Given the description of an element on the screen output the (x, y) to click on. 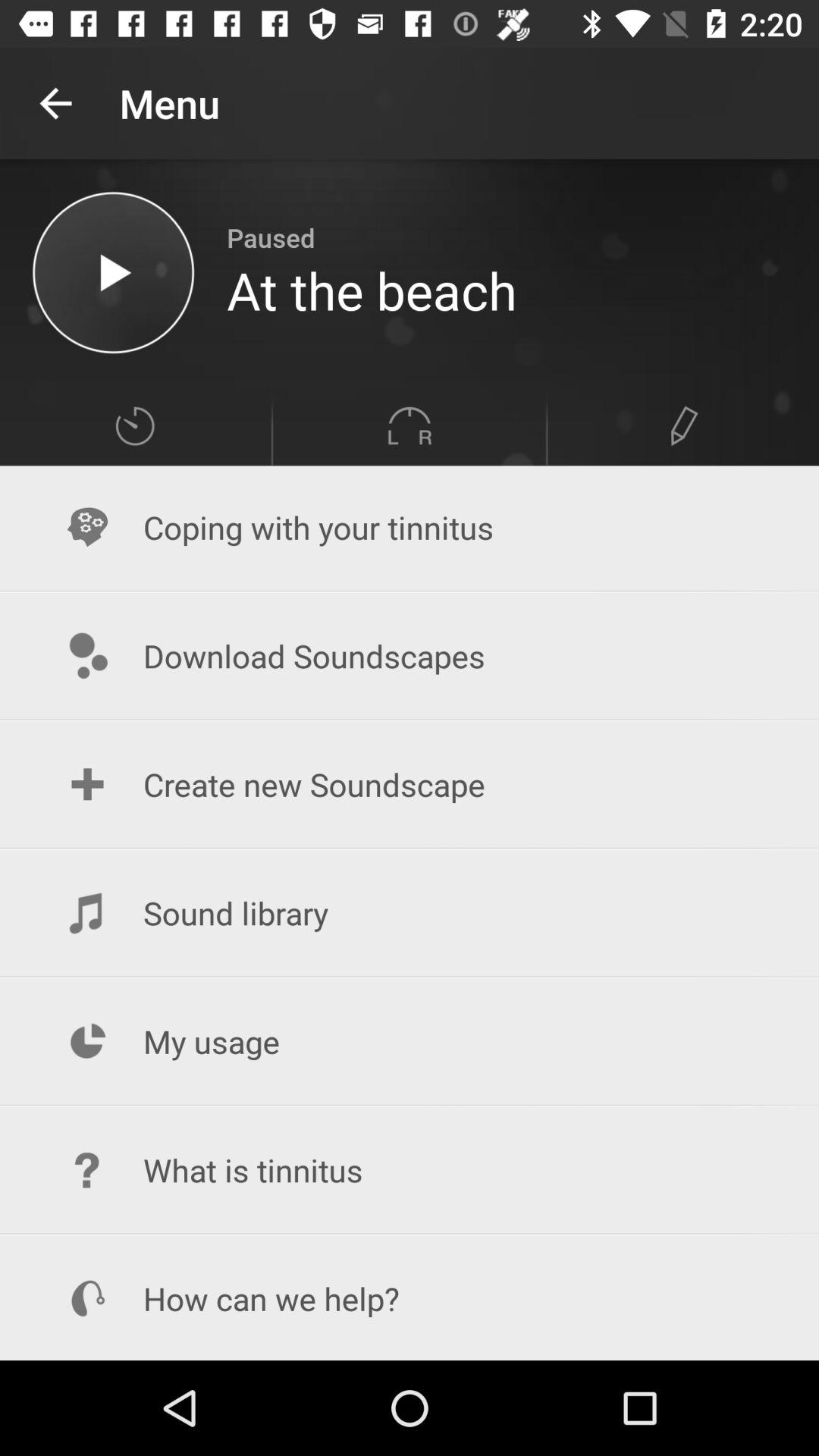
flip to the my usage icon (409, 1041)
